Given the description of an element on the screen output the (x, y) to click on. 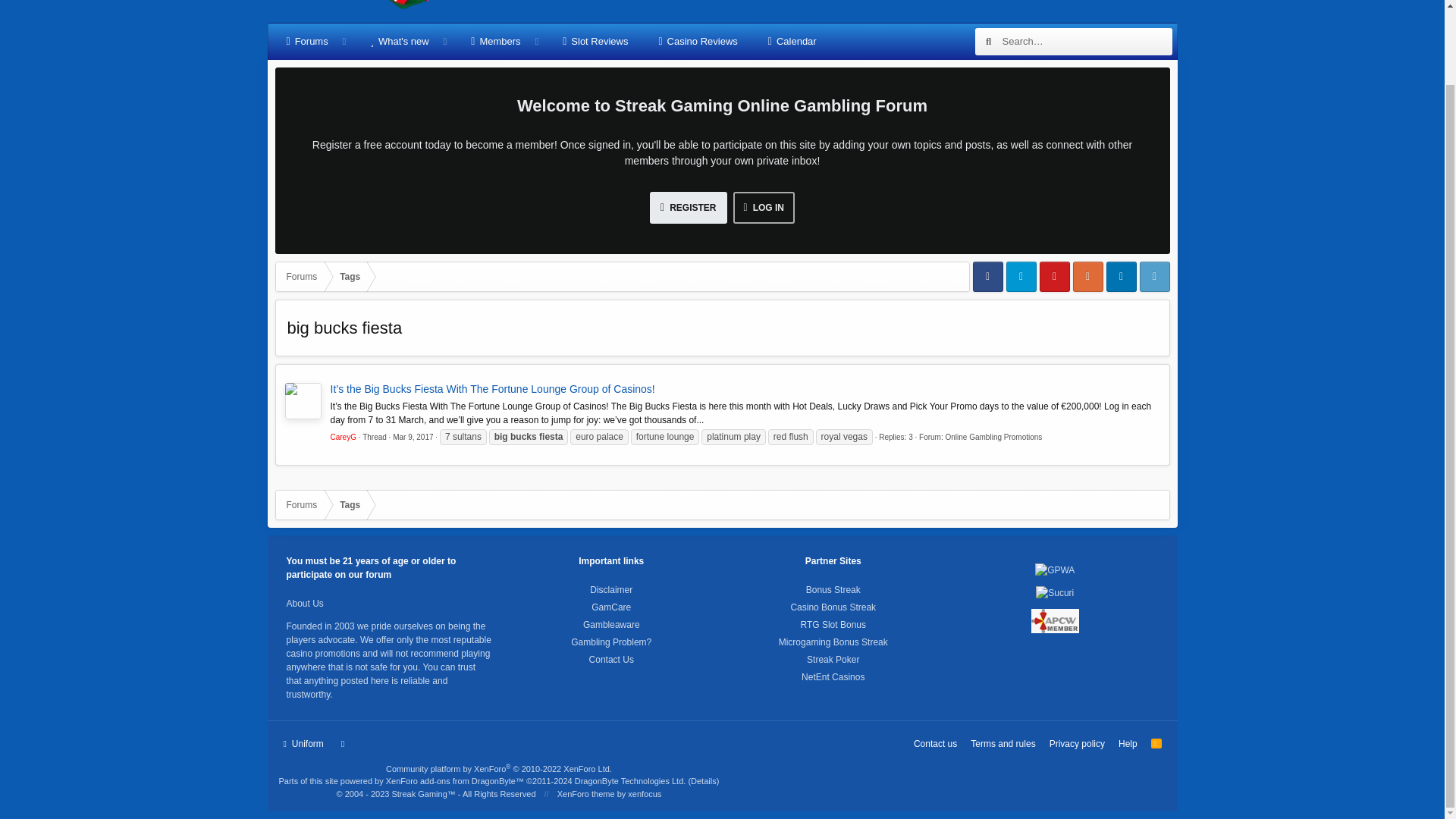
What's new (399, 41)
Calendar (791, 41)
Mar 9, 2017 at 11:53 AM (412, 437)
Slot Reviews (595, 41)
Style chooser (304, 743)
Forums (302, 276)
Forums (306, 41)
Members (495, 41)
REGISTER (687, 207)
LOG IN (762, 207)
Casino Reviews (697, 41)
